Given the description of an element on the screen output the (x, y) to click on. 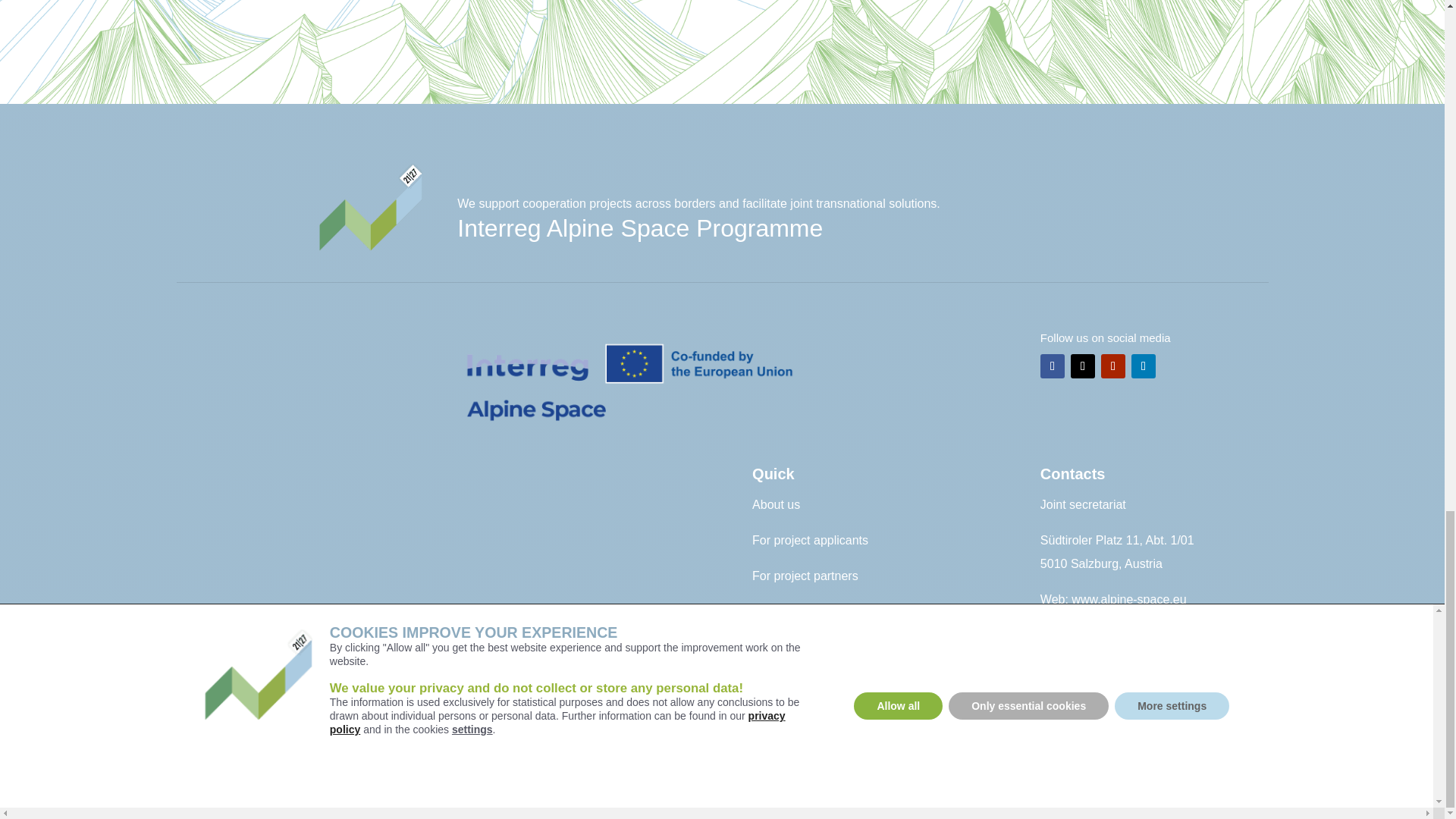
Follow on LinkedIn (1143, 365)
Follow on X (1082, 365)
Follow on Youtube (1112, 365)
Follow on Facebook (1052, 365)
SymbolBig-period (370, 207)
